Given the description of an element on the screen output the (x, y) to click on. 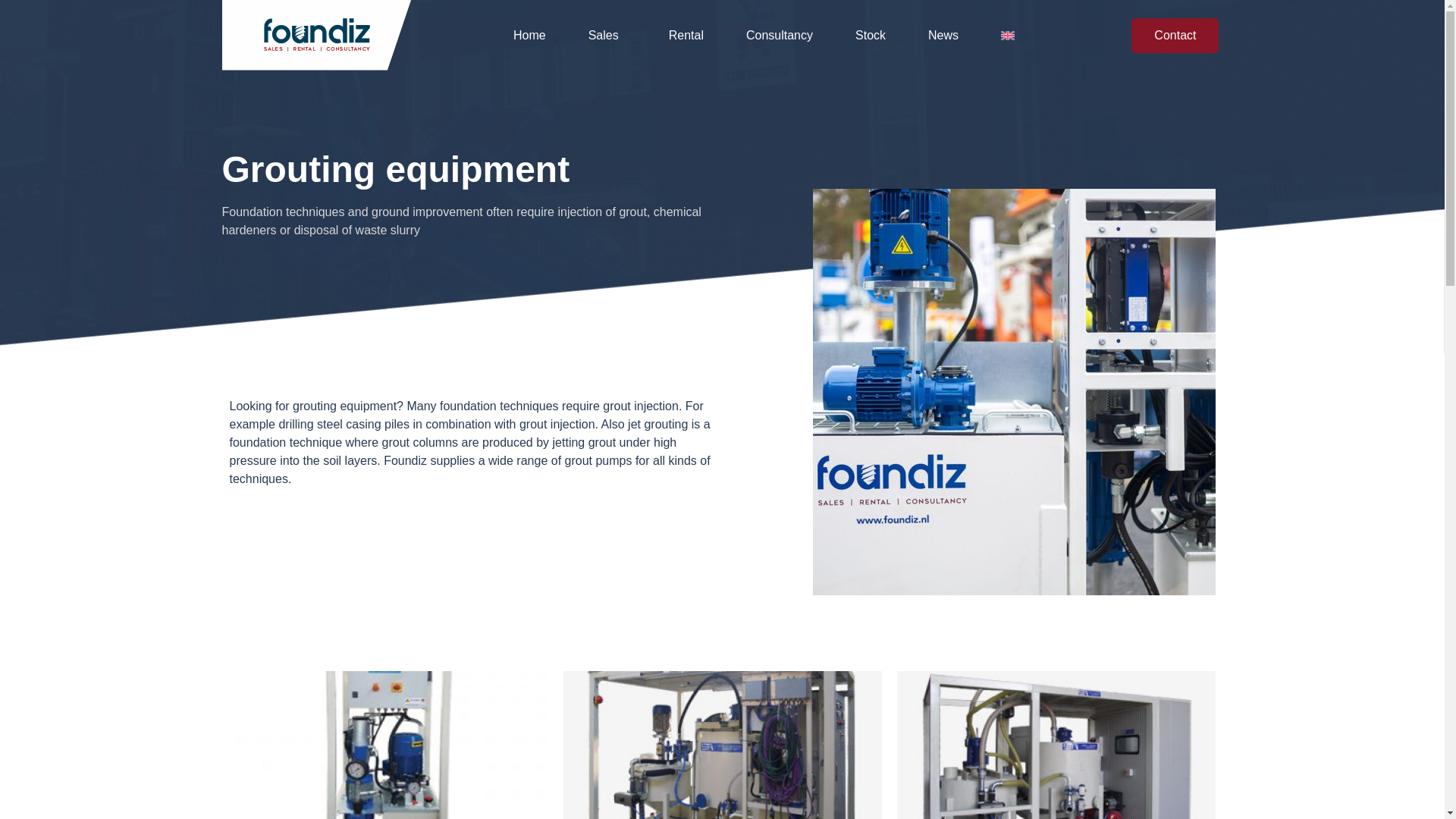
Mixing-and-grouting-units-7m3vertical-pump (721, 744)
Mixing-units-pic-10m3-automatic (1055, 744)
Mixing-and-grouting-units-7m3vertical-pump-kopieren (387, 744)
